Given the description of an element on the screen output the (x, y) to click on. 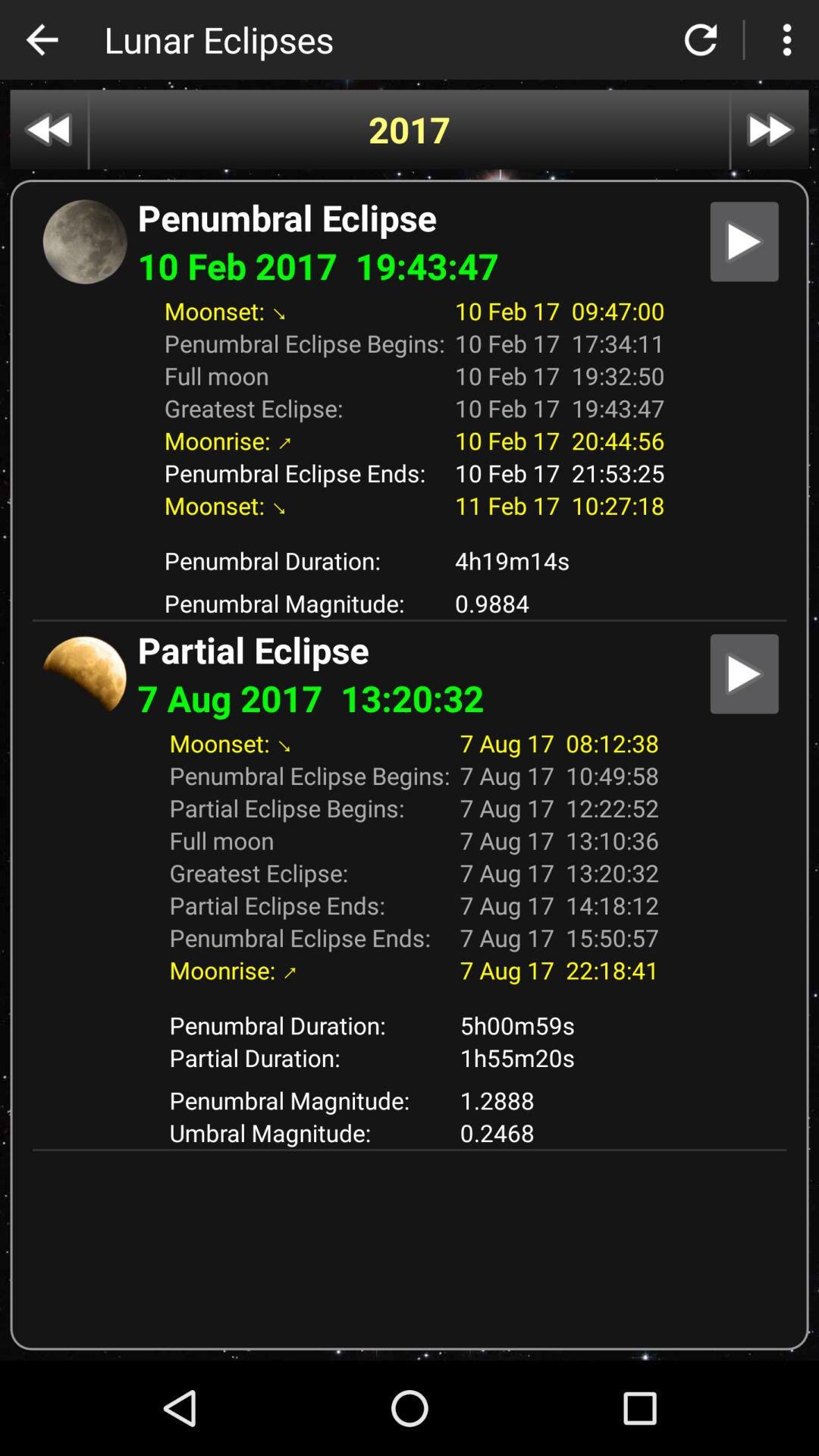
refresh your window (700, 39)
